Given the description of an element on the screen output the (x, y) to click on. 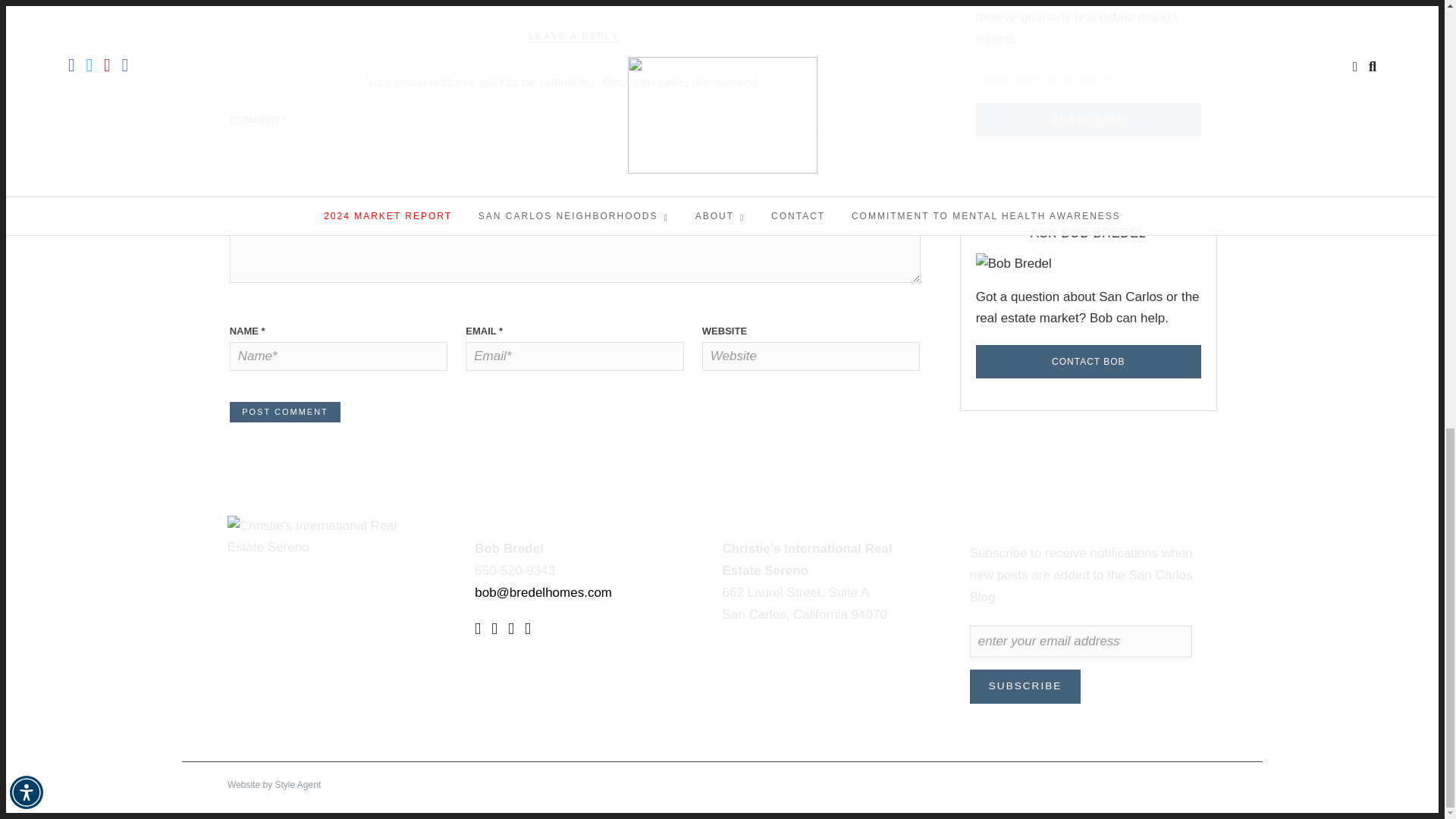
Subscribe (1088, 119)
Subscribe (1025, 685)
Post Comment (285, 412)
